Given the description of an element on the screen output the (x, y) to click on. 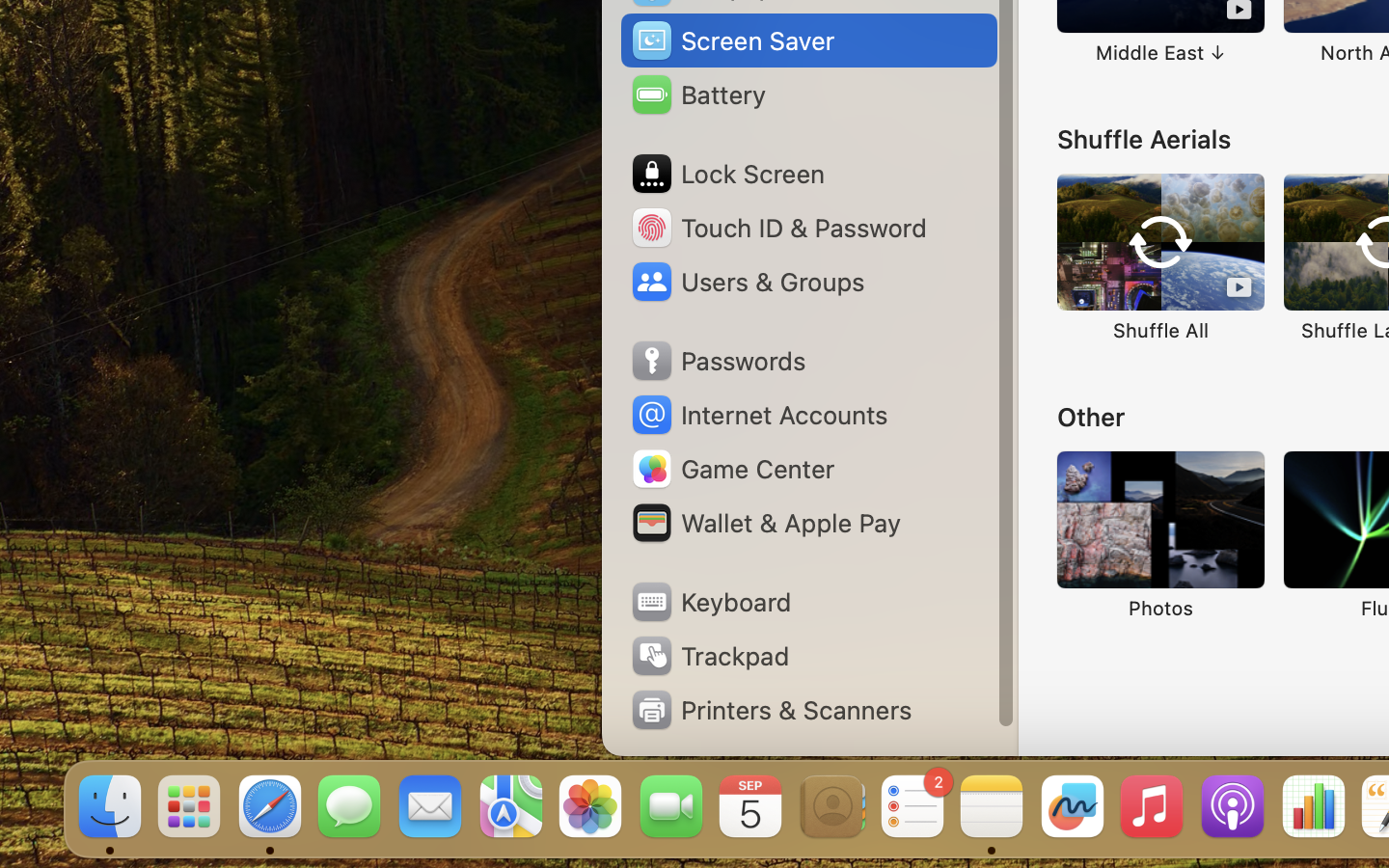
Game Center Element type: AXStaticText (731, 468)
Wallet & Apple Pay Element type: AXStaticText (764, 522)
Other Element type: AXStaticText (1090, 416)
Keyboard Element type: AXStaticText (709, 601)
Shuffle Aerials Element type: AXStaticText (1143, 138)
